Given the description of an element on the screen output the (x, y) to click on. 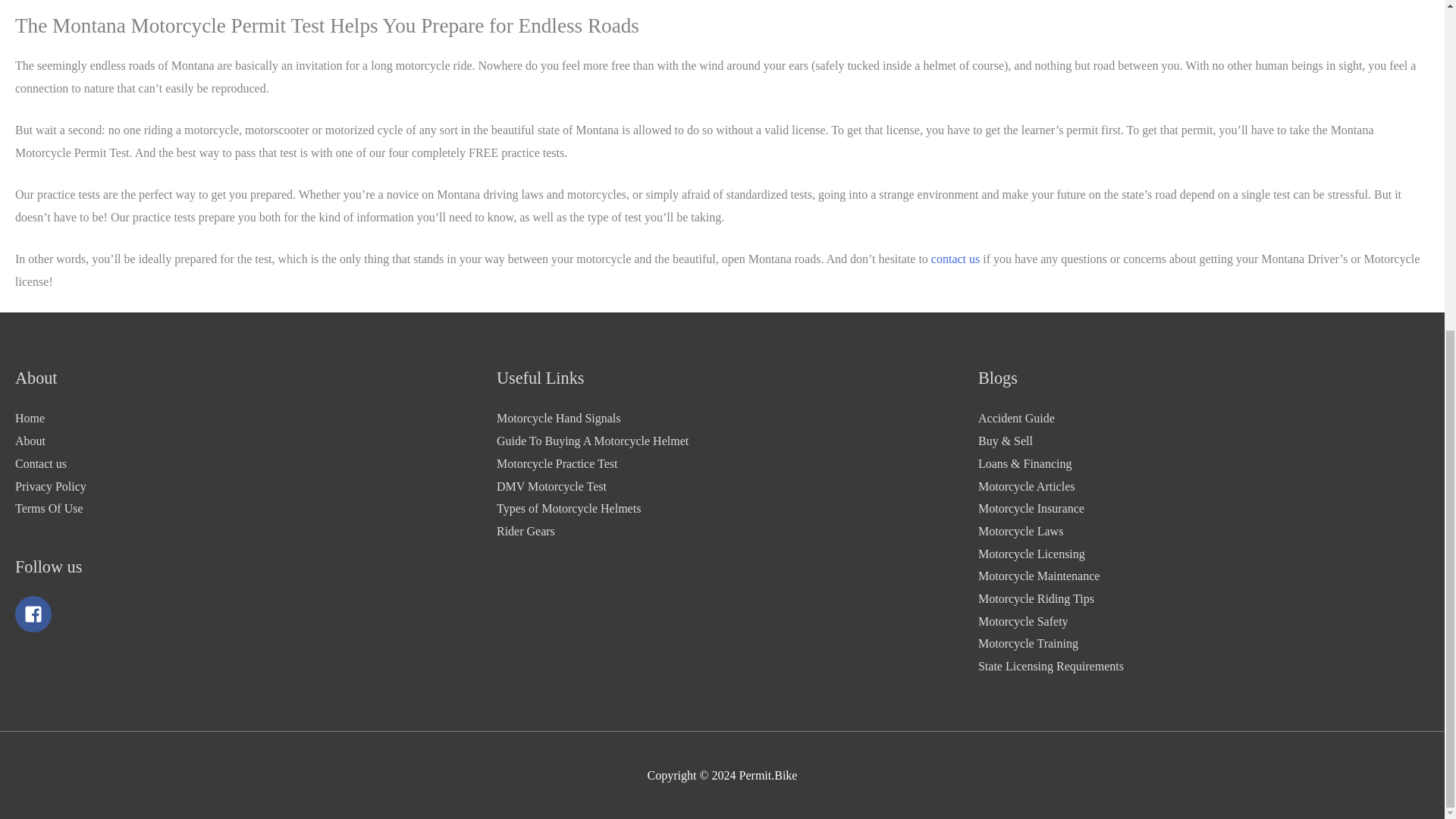
Motorcycle Training (1028, 643)
Motorcycle Licensing (1031, 553)
DMV Motorcycle Test (551, 486)
Contact us (40, 463)
contact us (955, 258)
Motorcycle Articles (1026, 486)
Motorcycle Practice Test (556, 463)
Motorcycle Maintenance (1038, 575)
Rider Gears (525, 530)
Accident Guide (1016, 418)
Motorcycle Safety (1023, 621)
Guide To Buying A Motorcycle Helmet (592, 440)
Terms Of Use (48, 508)
Motorcycle Laws (1020, 530)
Home (29, 418)
